Given the description of an element on the screen output the (x, y) to click on. 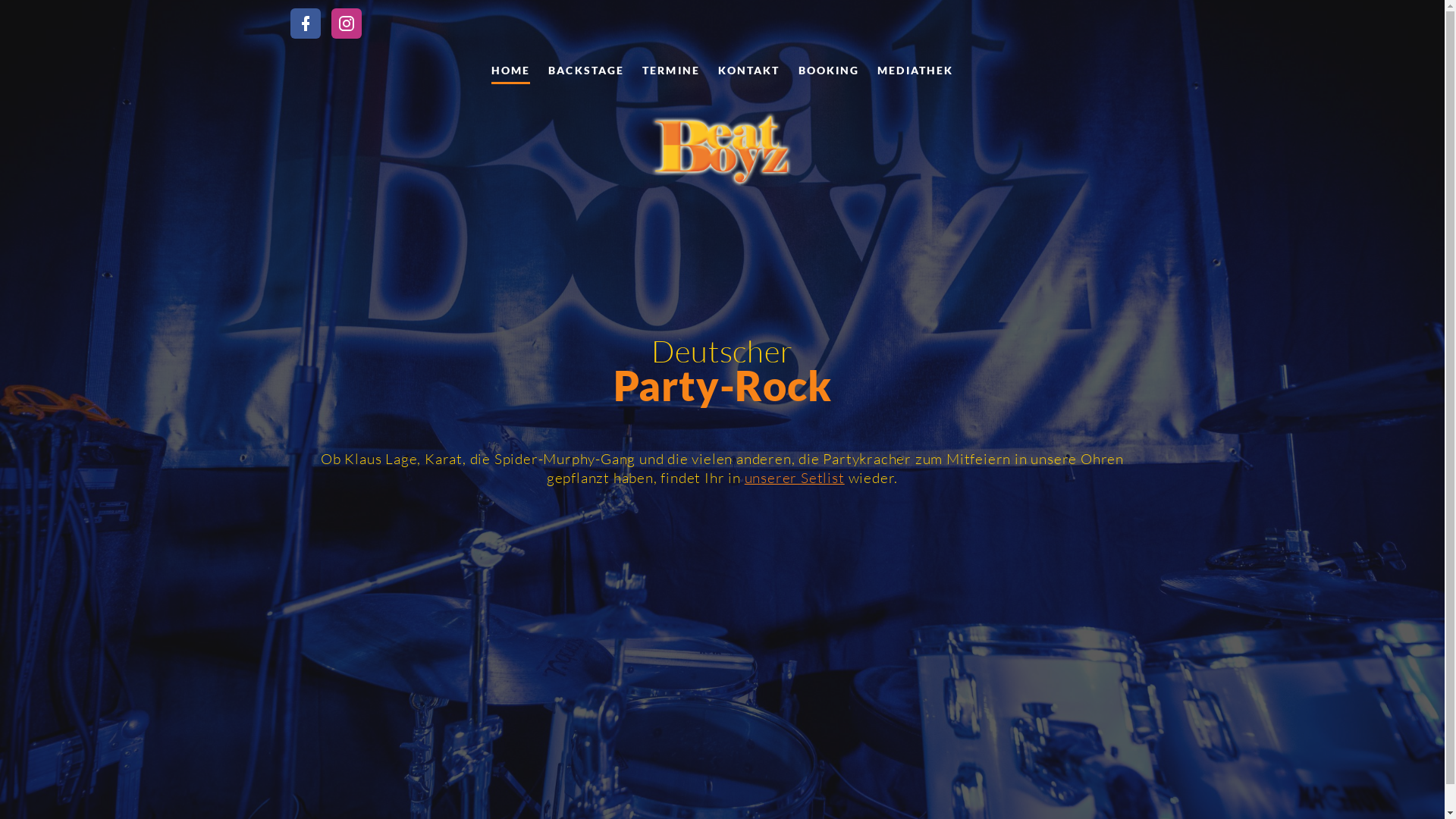
unserer Setlist Element type: text (794, 477)
HOME Element type: text (510, 70)
BOOKING Element type: text (828, 70)
facebook Element type: text (304, 23)
MEDIATHEK Element type: text (915, 70)
KONTAKT Element type: text (749, 70)
instagram Element type: text (345, 23)
TERMINE Element type: text (670, 70)
BACKSTAGE Element type: text (586, 70)
